Given the description of an element on the screen output the (x, y) to click on. 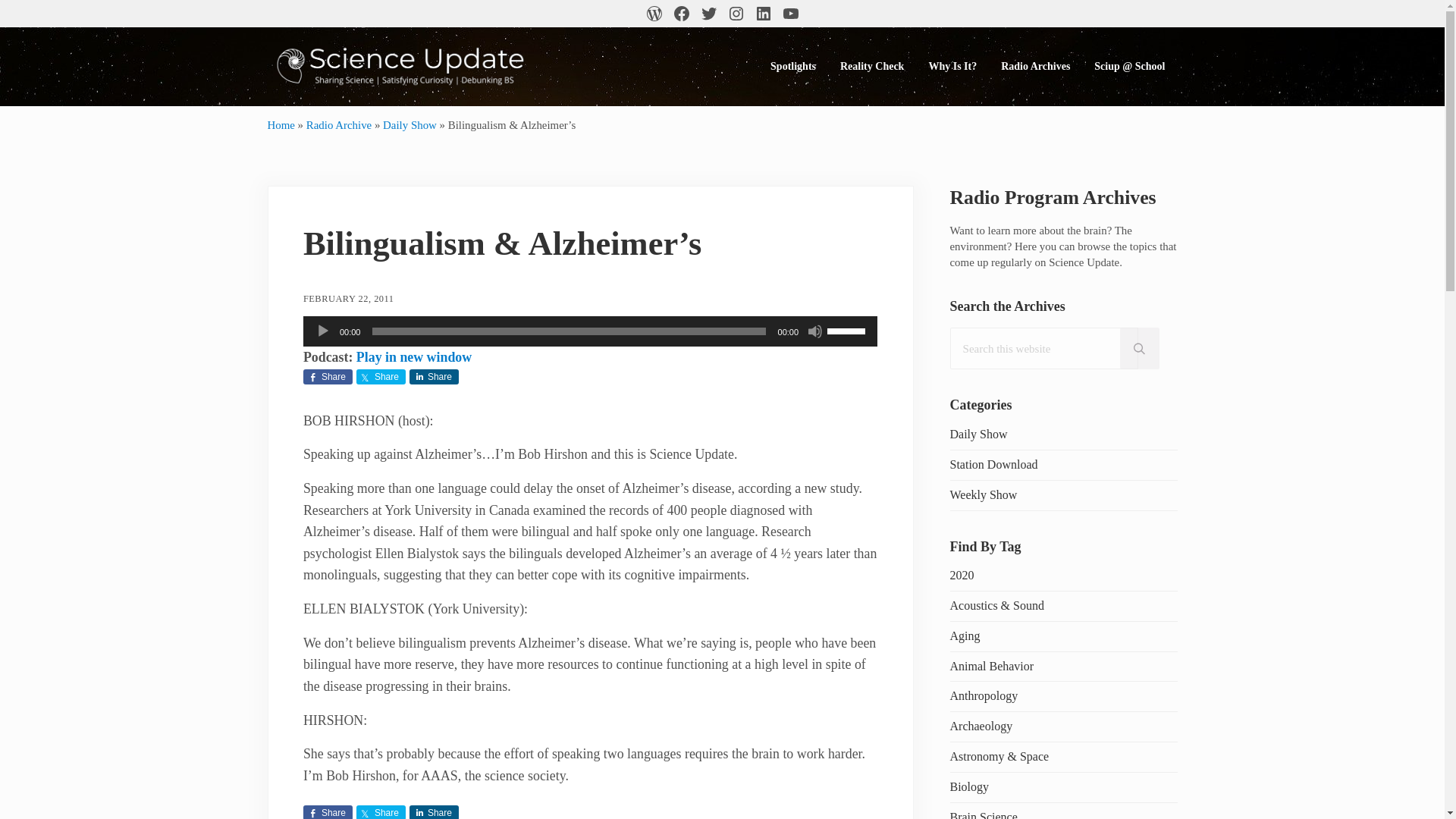
Share (327, 376)
Spotlights (793, 66)
Daily Show (409, 124)
Radio Archives (1034, 66)
Reality Check (871, 66)
Facebook (680, 13)
Twitter (708, 13)
Play (322, 331)
YouTube (789, 13)
Why Is It? (951, 66)
Radio Archive (338, 124)
Share (381, 376)
Play in new window (413, 356)
Instagram (735, 13)
